Given the description of an element on the screen output the (x, y) to click on. 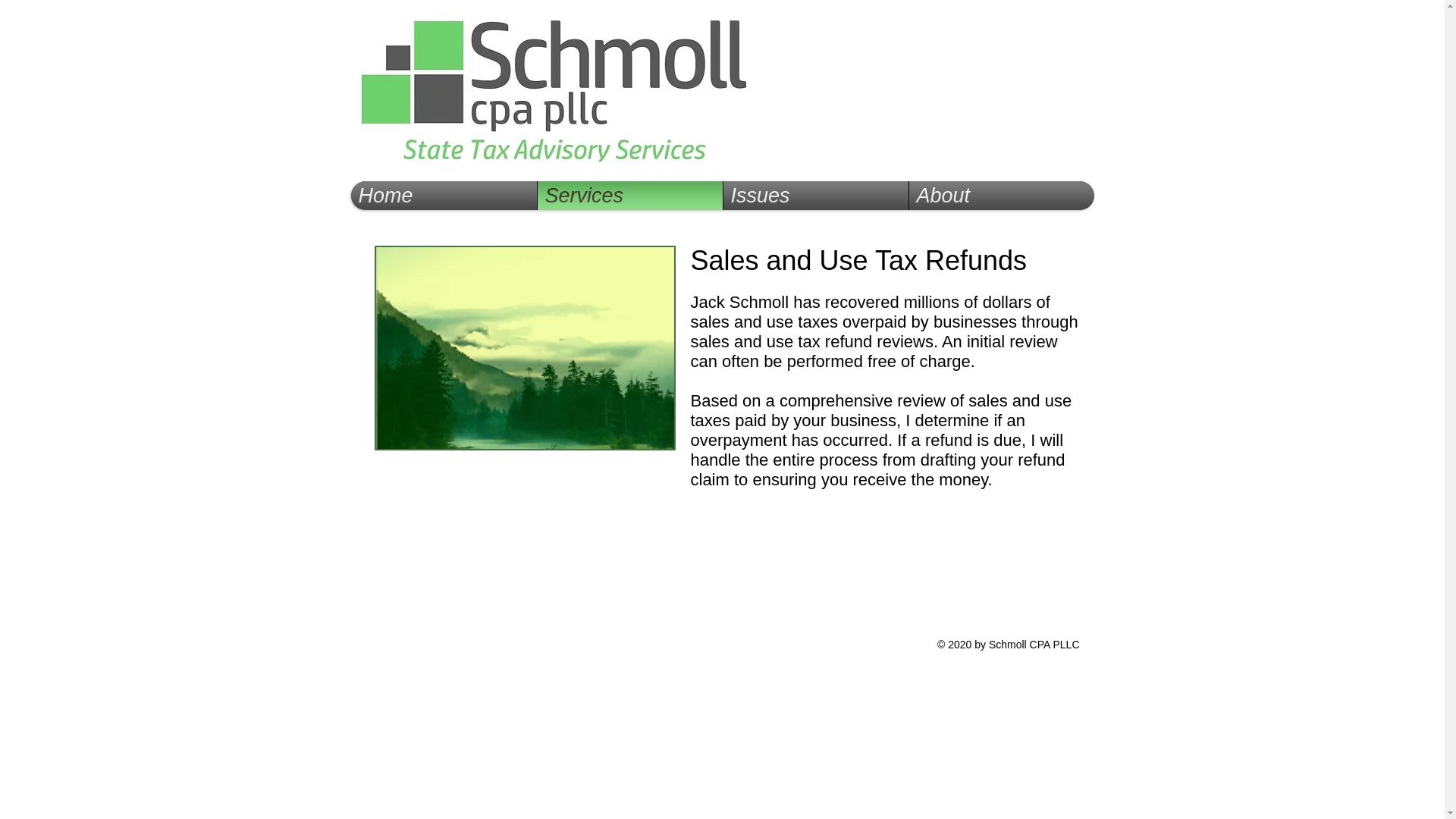
Logo Green Squares - advisor.jpg (553, 90)
Issues (815, 194)
River Scene (524, 347)
About (1000, 194)
Home (442, 194)
Services (629, 194)
